Given the description of an element on the screen output the (x, y) to click on. 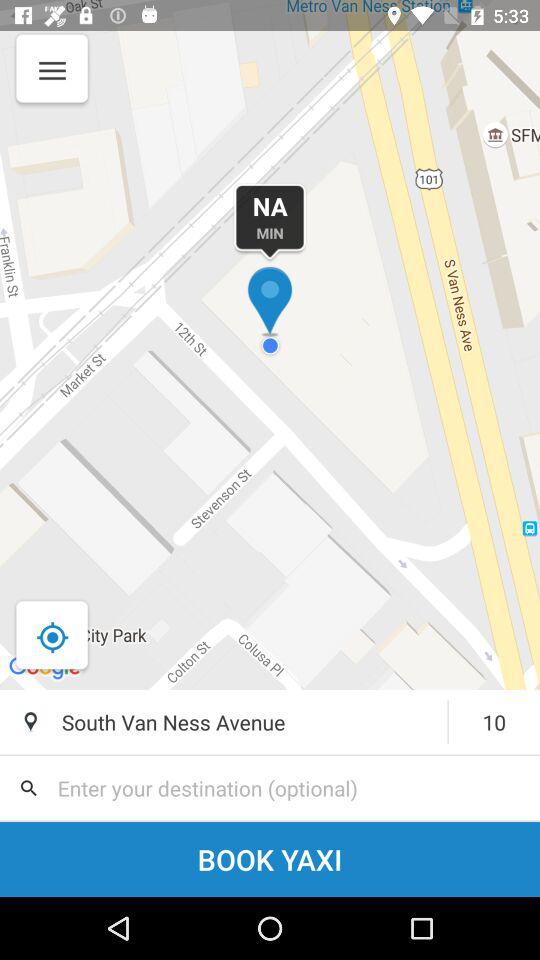
click on the button which is above the south van ness avenue (51, 637)
click the more icon on the top left (50, 82)
